Given the description of an element on the screen output the (x, y) to click on. 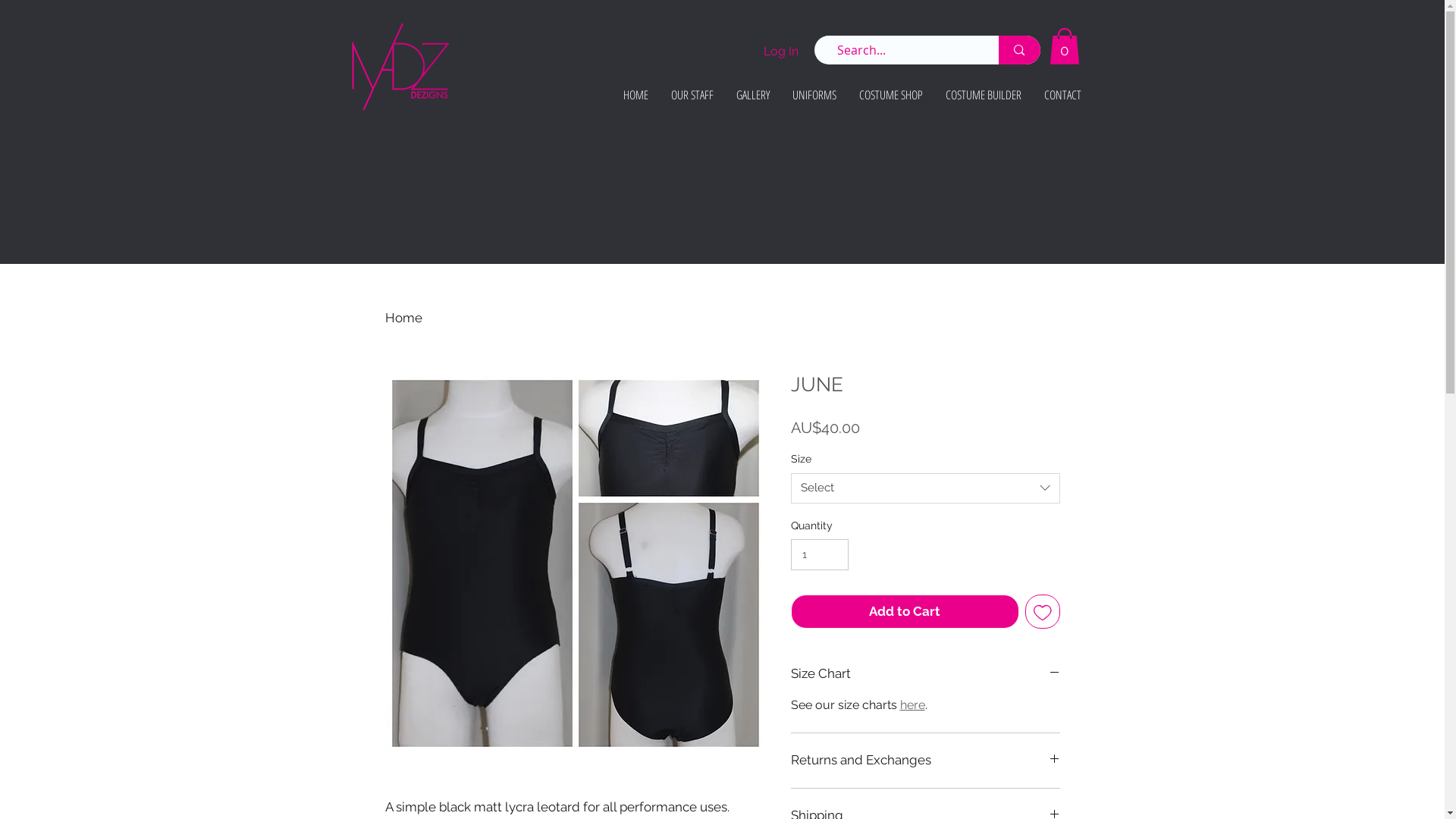
COSTUME SHOP Element type: text (890, 94)
HOME Element type: text (634, 94)
Log In Element type: text (780, 51)
Home Element type: text (403, 317)
Add to Cart Element type: text (904, 611)
OUR STAFF Element type: text (691, 94)
here Element type: text (911, 704)
Size Chart Element type: text (924, 674)
0 Element type: text (1064, 46)
Select Element type: text (924, 488)
Returns and Exchanges Element type: text (924, 760)
COSTUME BUILDER Element type: text (983, 94)
GALLERY Element type: text (752, 94)
UNIFORMS Element type: text (814, 94)
CONTACT Element type: text (1062, 94)
